Given the description of an element on the screen output the (x, y) to click on. 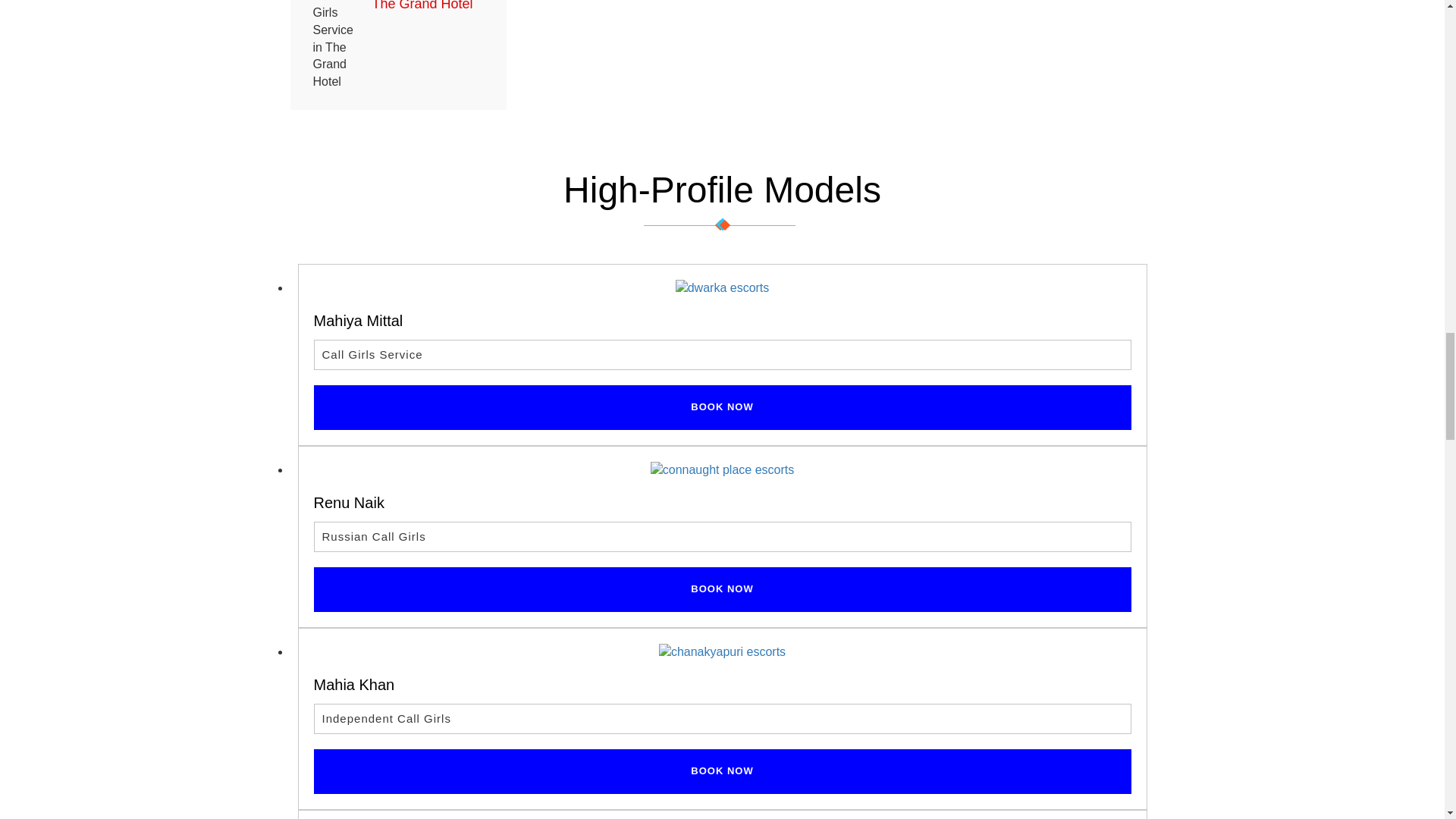
Book Now (722, 406)
Book Now (722, 771)
Book Now (722, 589)
